Given the description of an element on the screen output the (x, y) to click on. 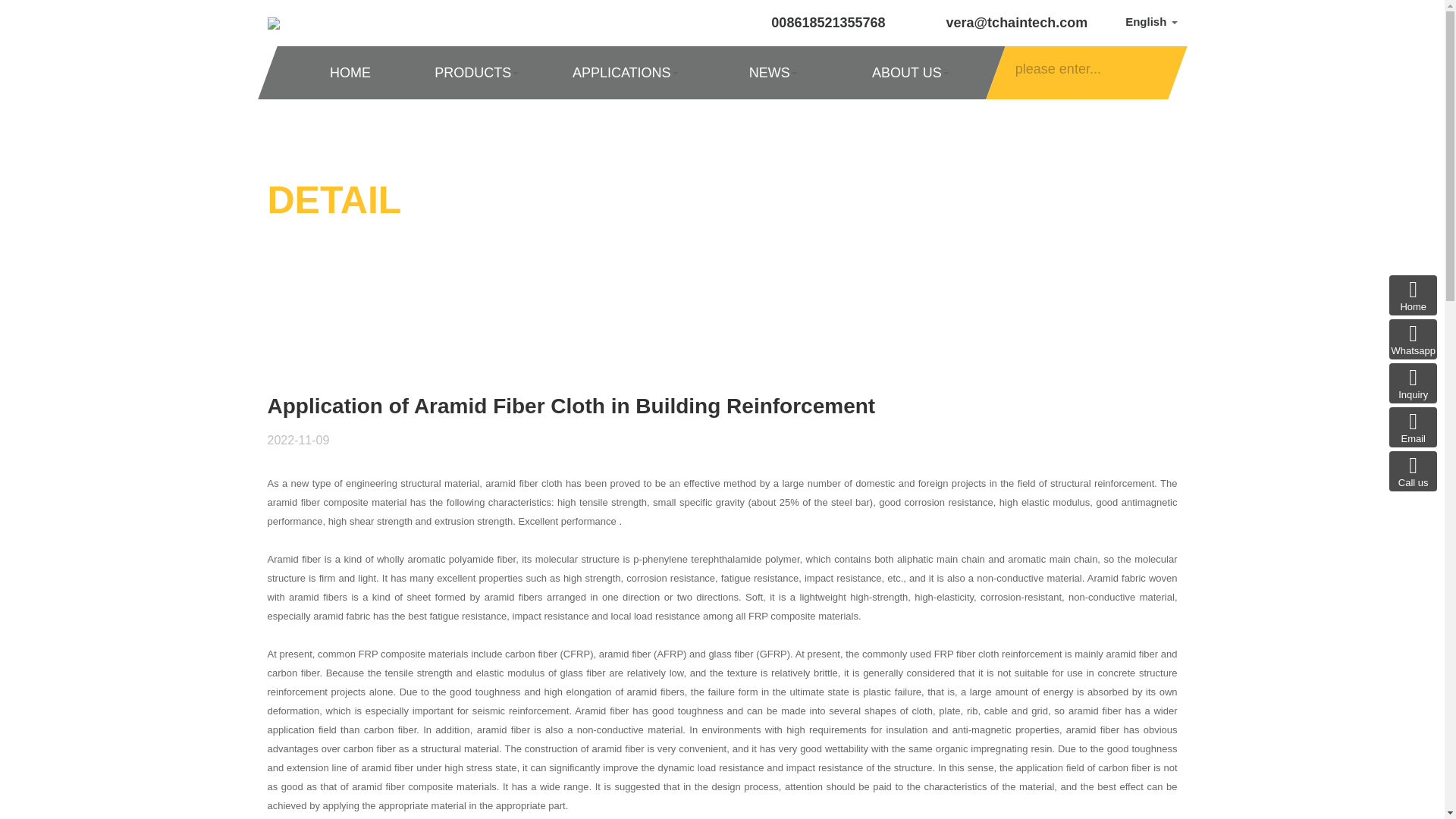
APPLICATIONS (624, 72)
008618521355768 (816, 23)
008617717379548 (1413, 339)
HOME (349, 72)
Inquiry (1413, 383)
English (1150, 21)
PRODUCTS (475, 72)
Home Page (1413, 295)
008618521355768 (1413, 471)
